Given the description of an element on the screen output the (x, y) to click on. 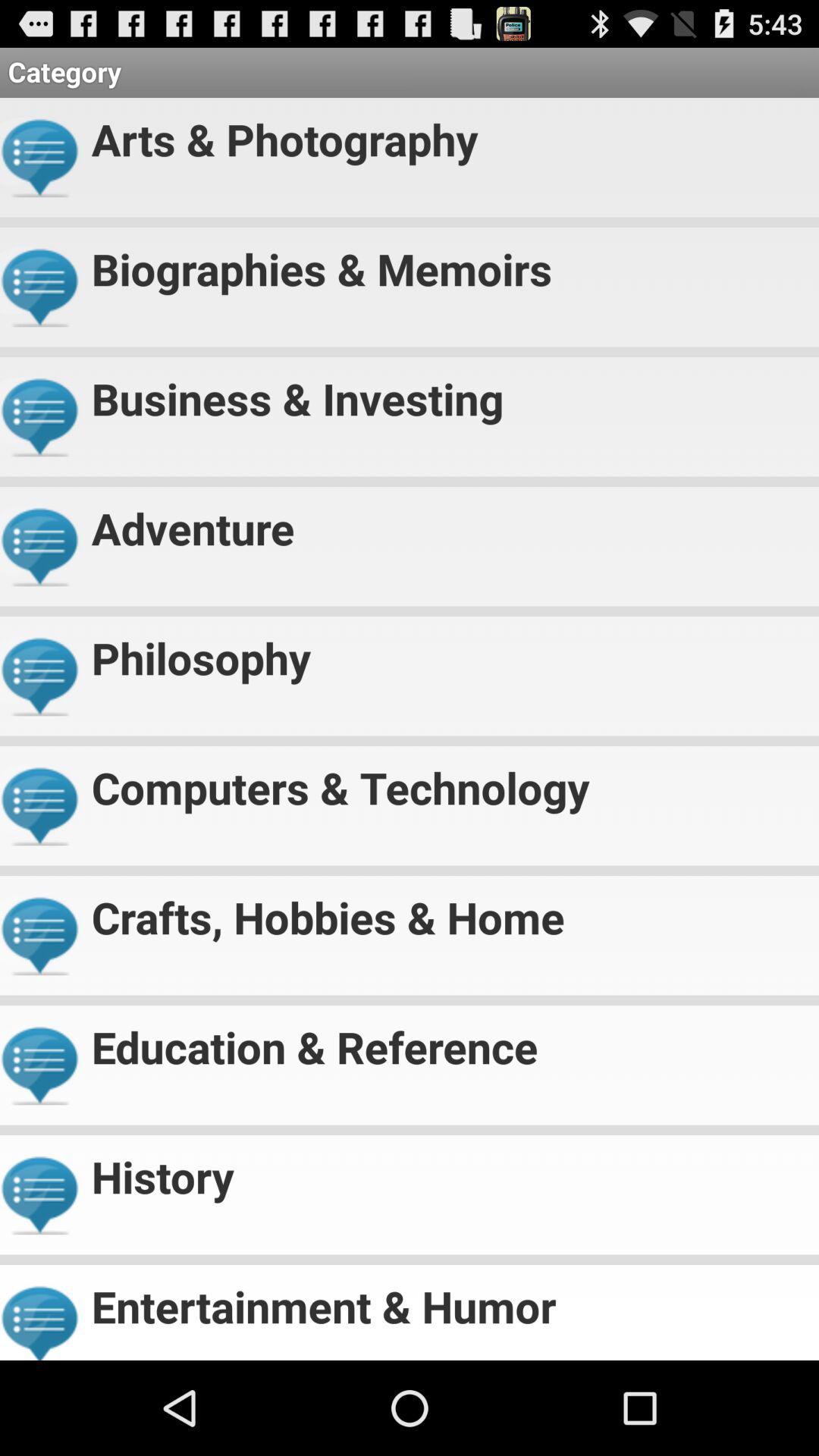
jump until history item (449, 1170)
